Given the description of an element on the screen output the (x, y) to click on. 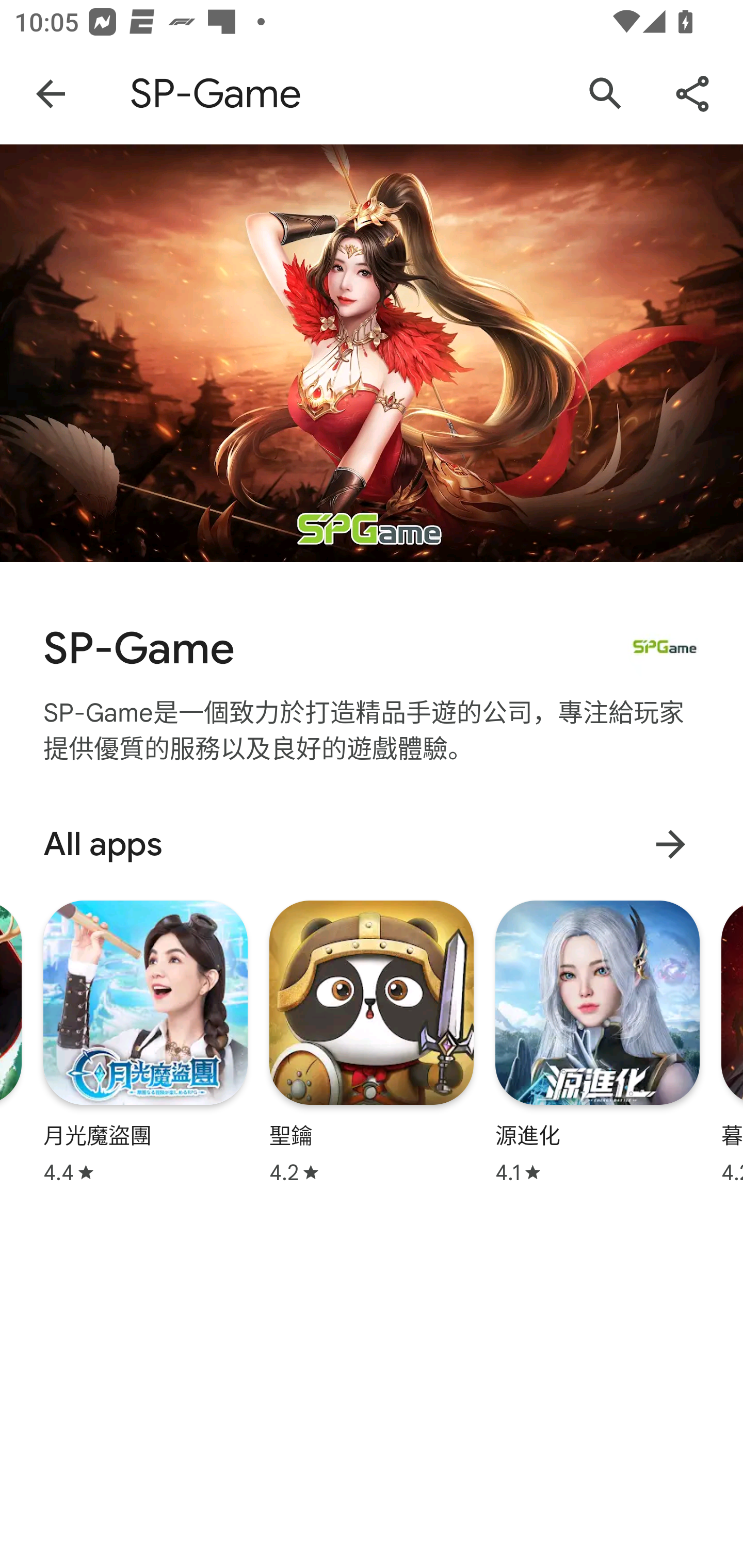
Navigate up (50, 93)
Search Google Play (605, 93)
Share (692, 93)
All apps More results for All apps (371, 844)
More results for All apps (670, 844)
月光魔盜團
Star rating: 4.4
 (145, 1041)
聖鑰
Star rating: 4.2
 (371, 1041)
源進化
Star rating: 4.1
 (597, 1041)
